Given the description of an element on the screen output the (x, y) to click on. 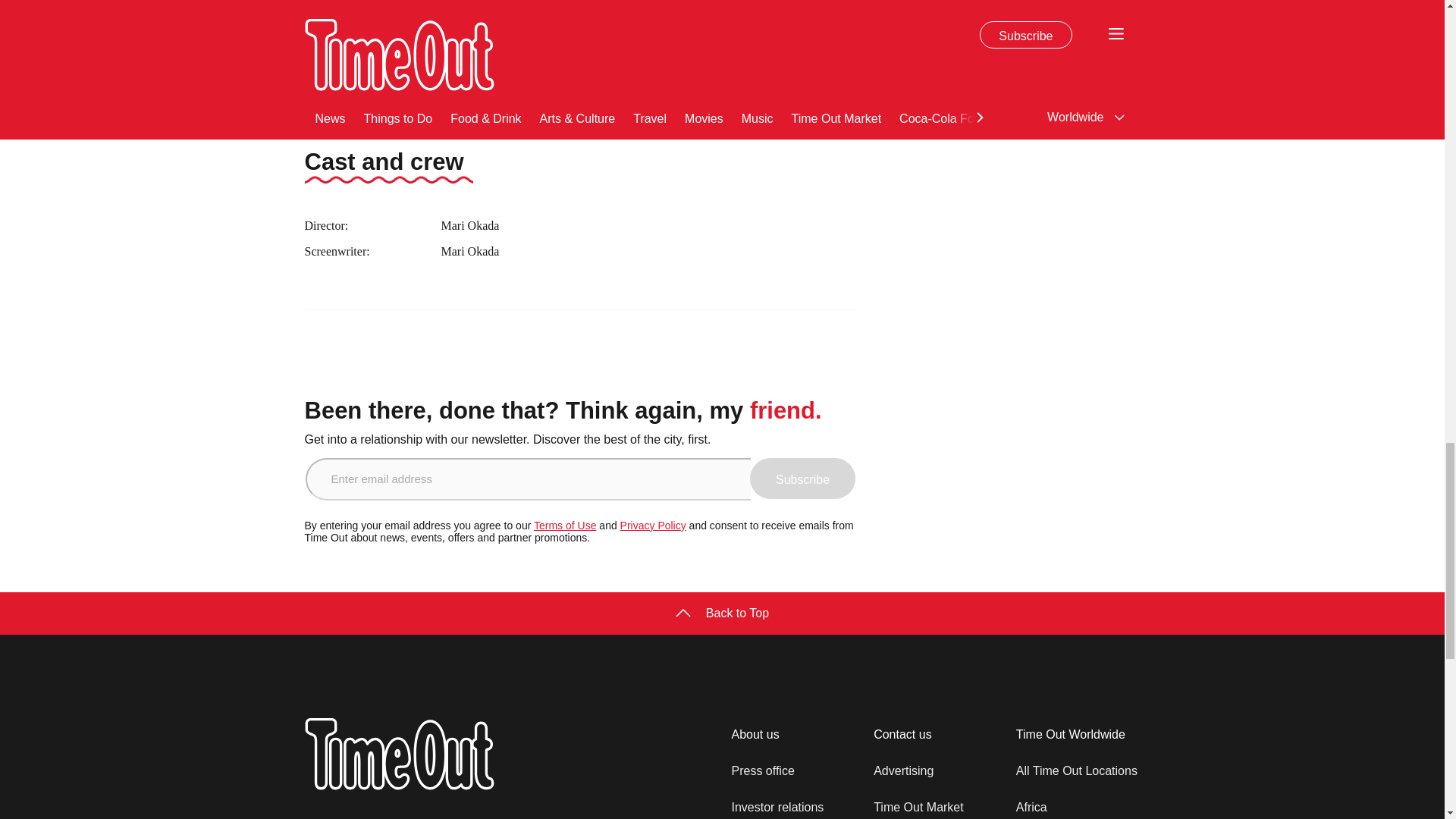
Subscribe (802, 477)
